Given the description of an element on the screen output the (x, y) to click on. 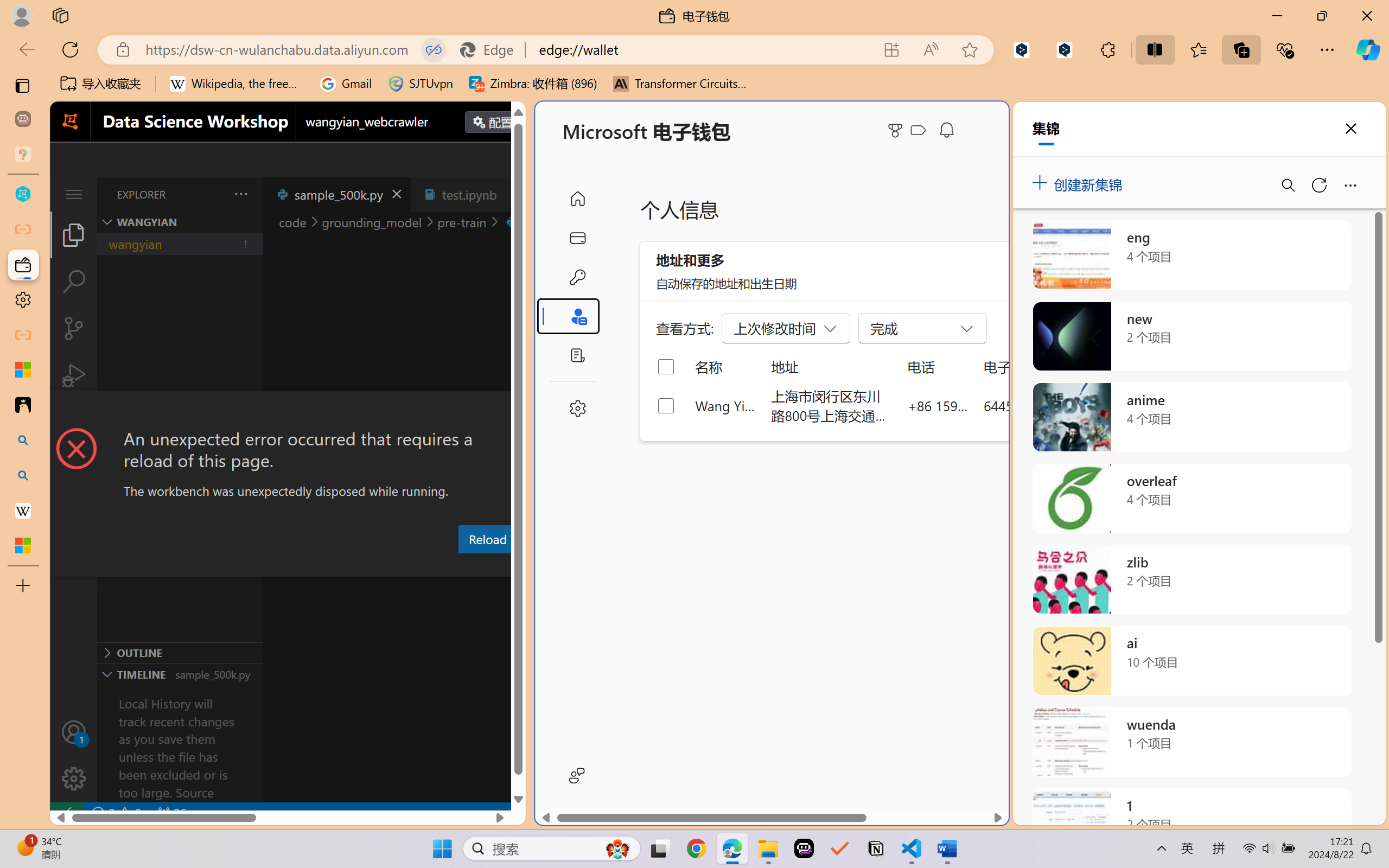
Problems (Ctrl+Shift+M) (308, 565)
Timeline Section (179, 673)
Microsoft Cashback (920, 130)
Run and Debug (Ctrl+Shift+D) (73, 375)
Accounts - Sign in requested (73, 732)
Close Dialog (520, 410)
sample_500k.py (336, 194)
Explorer actions (212, 194)
